Given the description of an element on the screen output the (x, y) to click on. 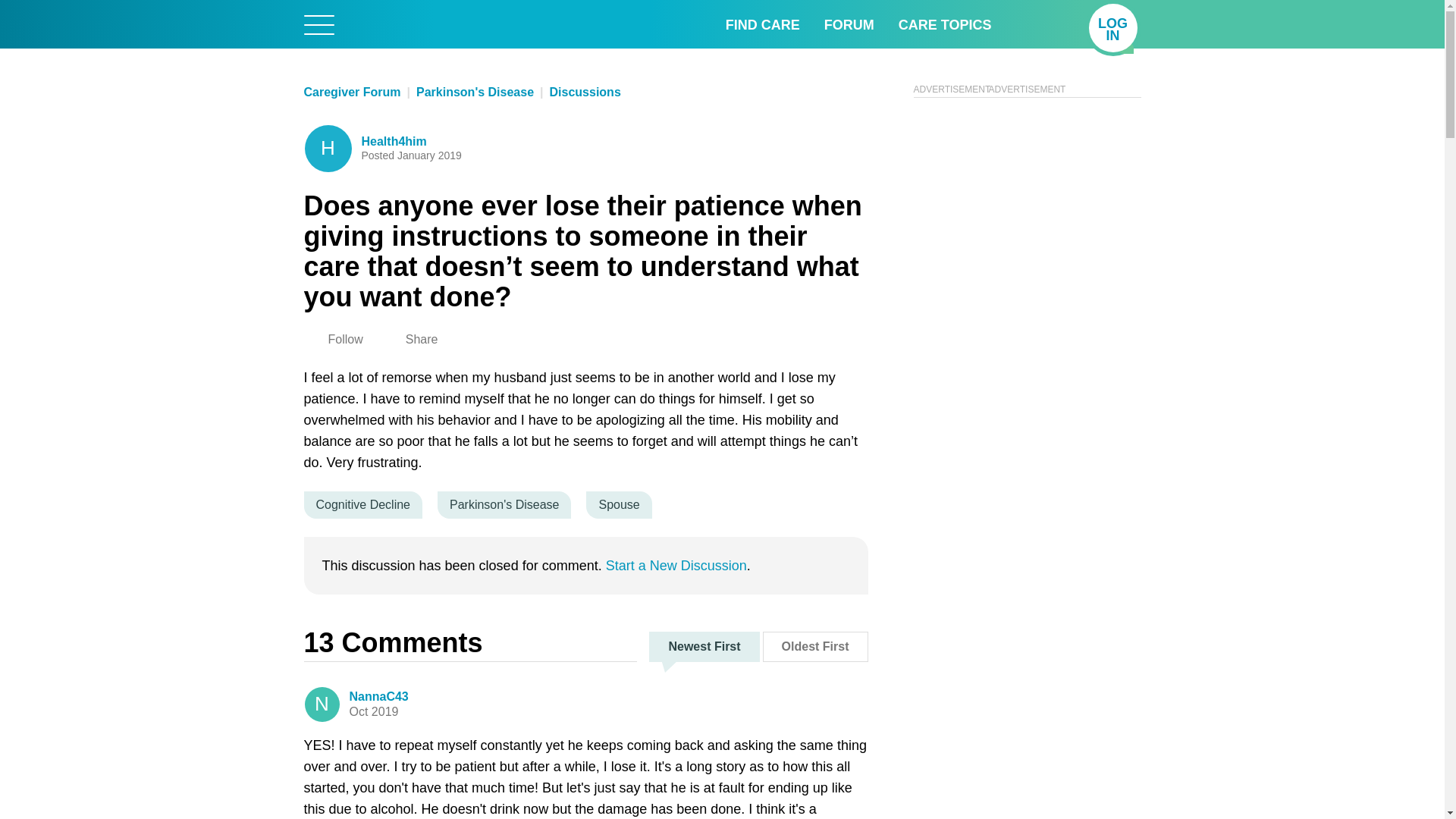
CARE TOPICS (944, 24)
FIND CARE (762, 24)
FORUM (1113, 28)
